Given the description of an element on the screen output the (x, y) to click on. 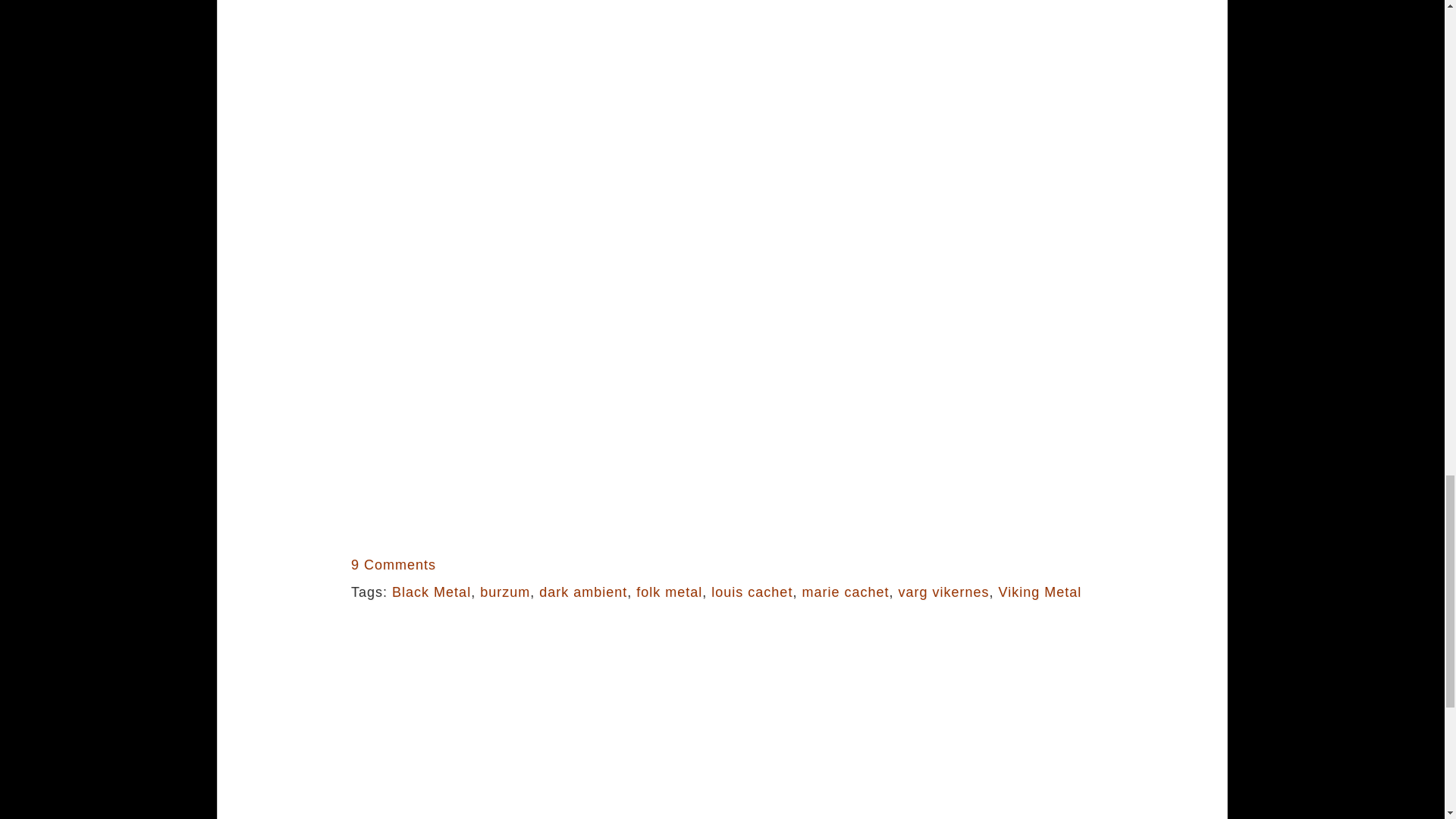
dark ambient (582, 591)
Viking Metal (1039, 591)
burzum (504, 591)
Burzum 1999 Hlidskjalf - Tuistos Herz (540, 132)
folk metal (668, 591)
9 Comments (392, 564)
marie cachet (845, 591)
louis cachet (751, 591)
Black Metal (430, 591)
varg vikernes (943, 591)
